Given the description of an element on the screen output the (x, y) to click on. 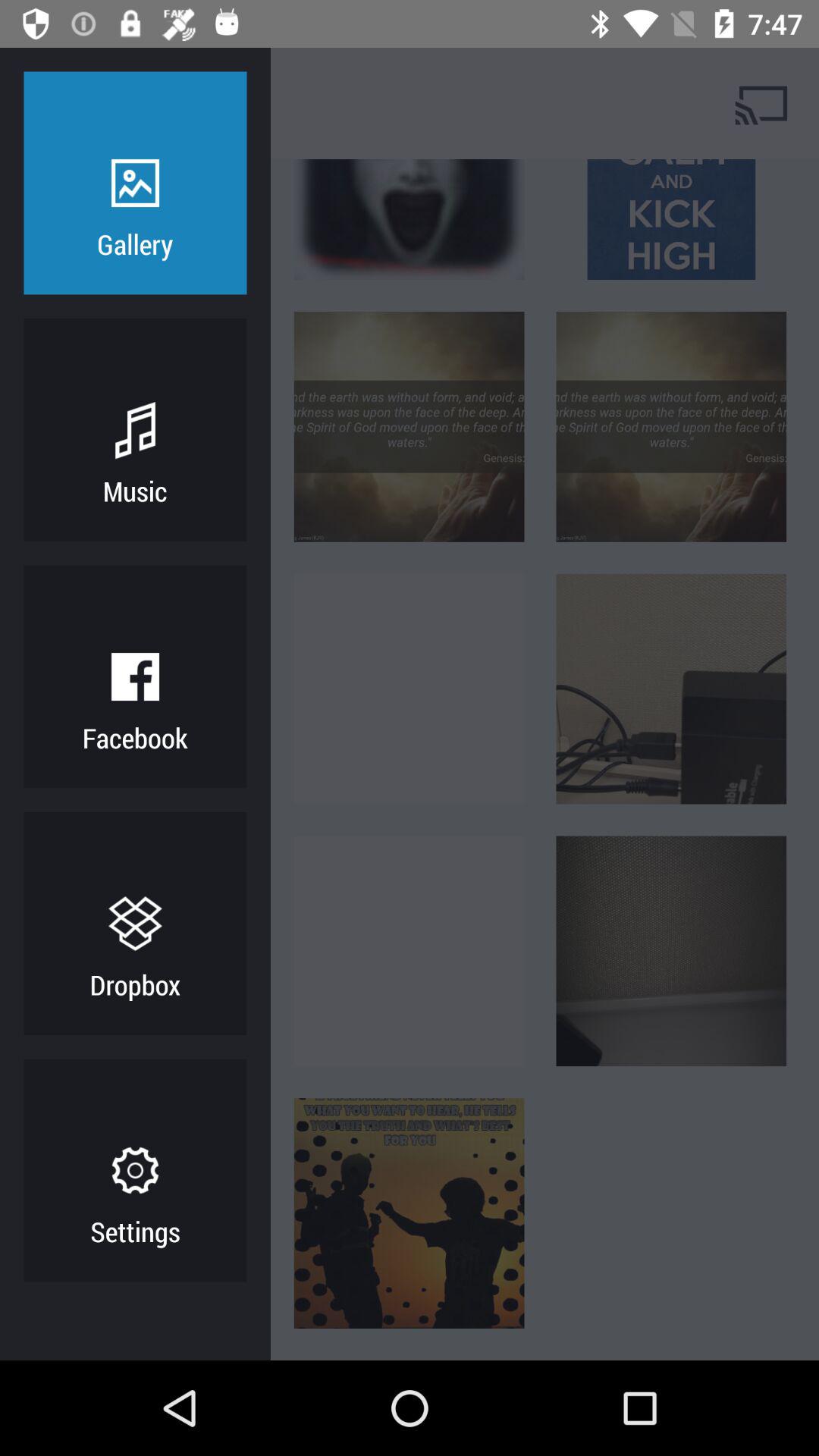
select the facebook app (134, 737)
